Given the description of an element on the screen output the (x, y) to click on. 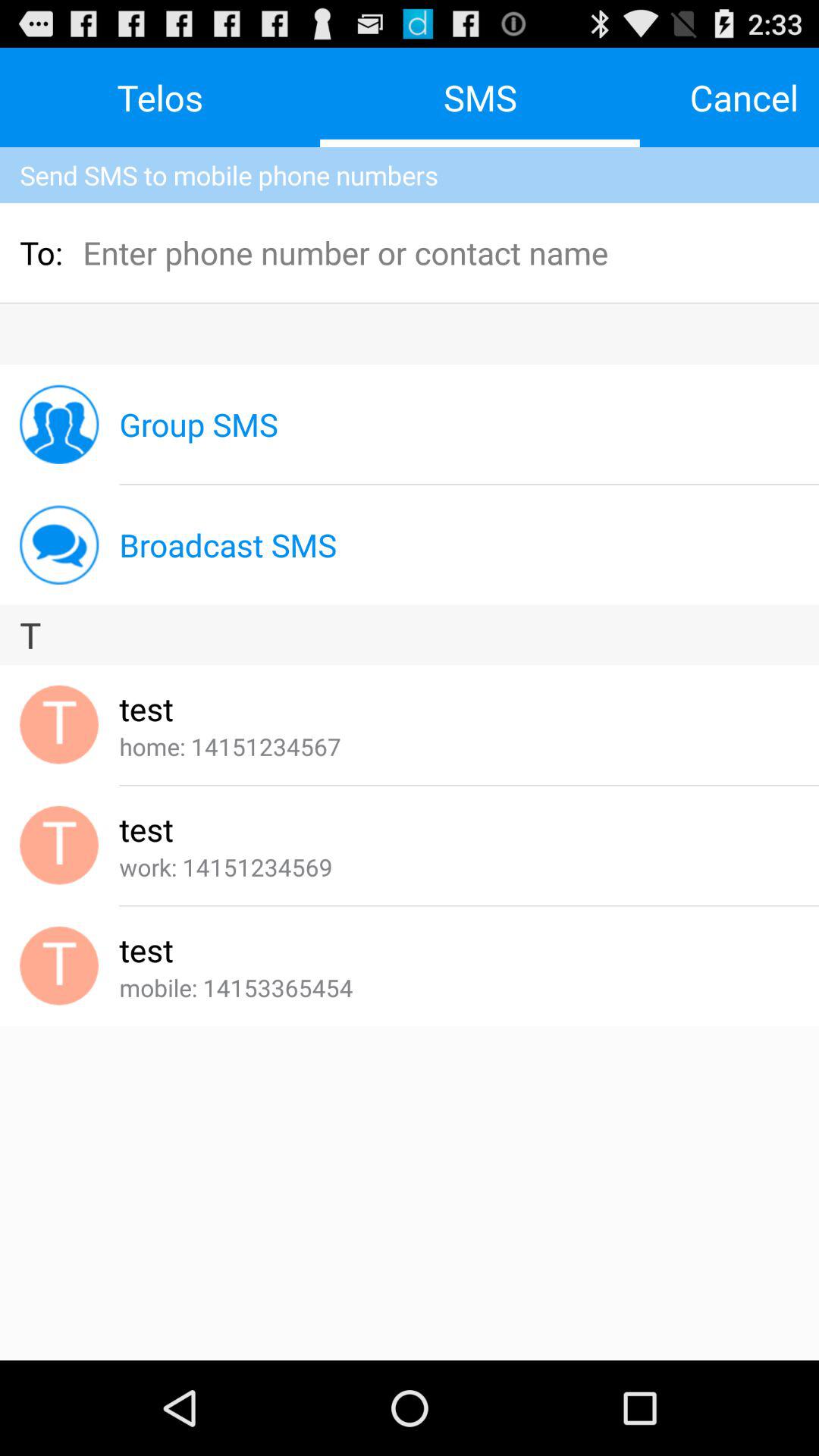
turn off broadcast sms item (227, 544)
